Given the description of an element on the screen output the (x, y) to click on. 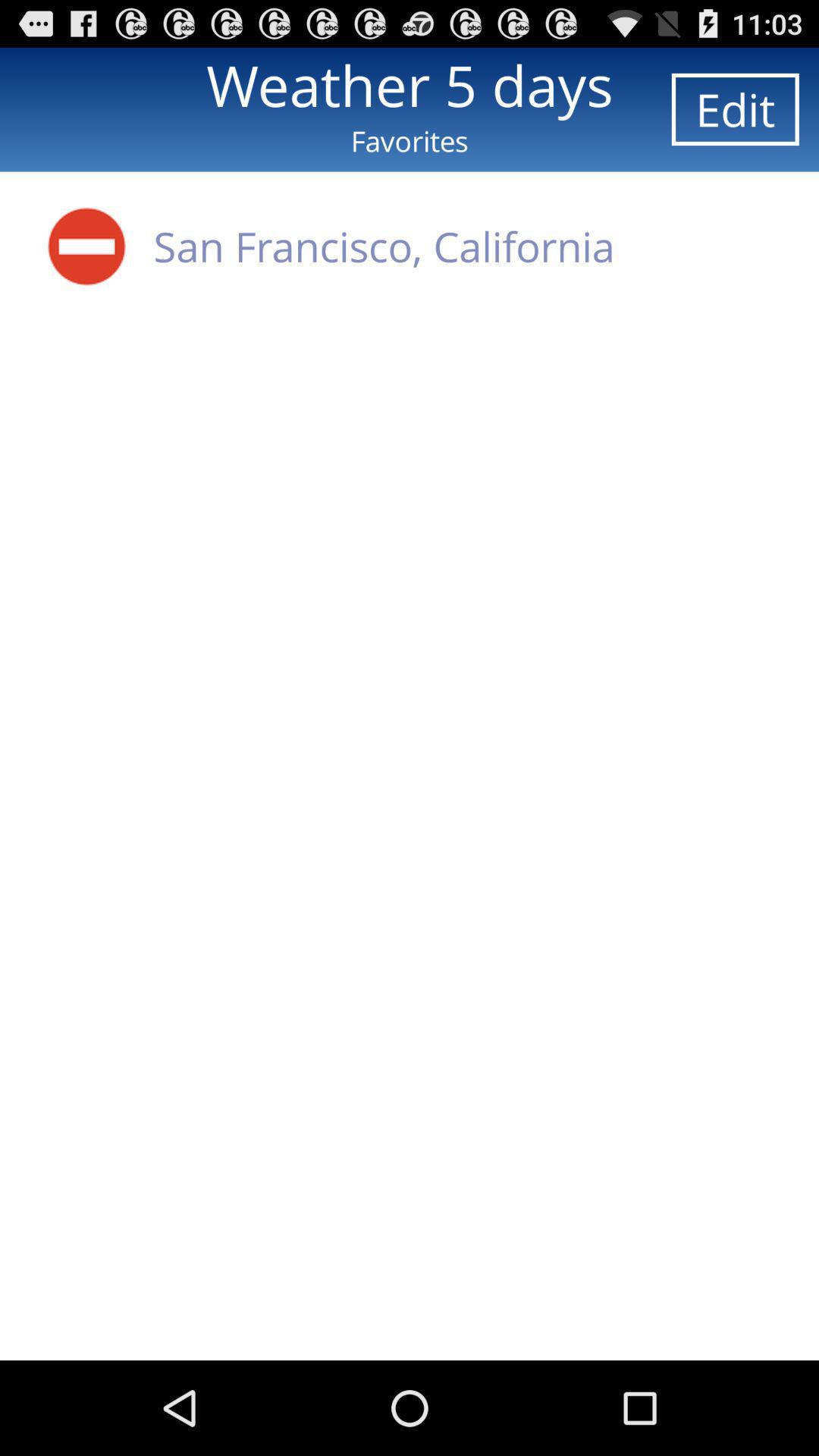
click the icon next to san francisco, california app (86, 245)
